Given the description of an element on the screen output the (x, y) to click on. 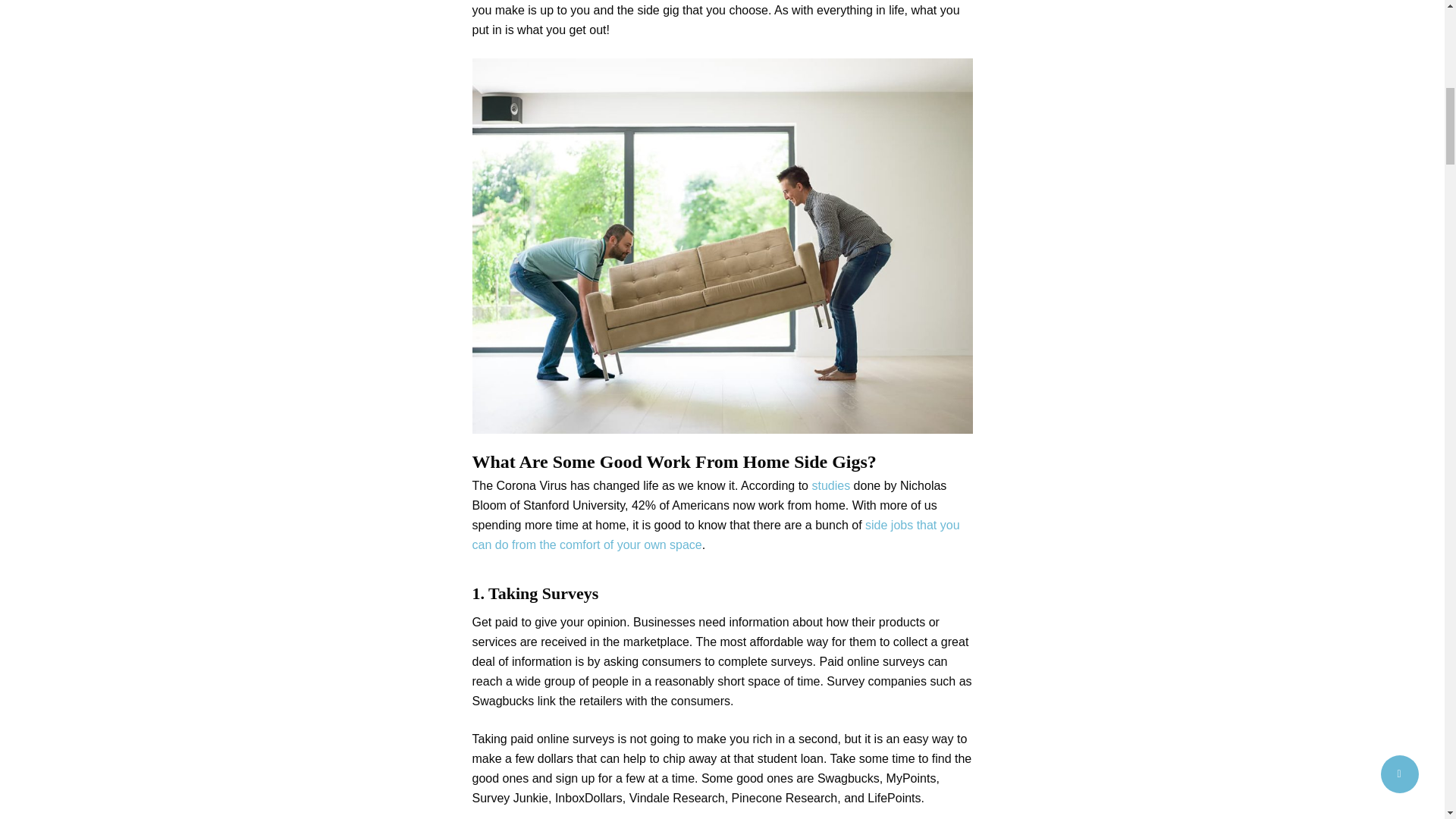
side jobs that you can do from the comfort of your own space (715, 534)
studies (830, 485)
